Given the description of an element on the screen output the (x, y) to click on. 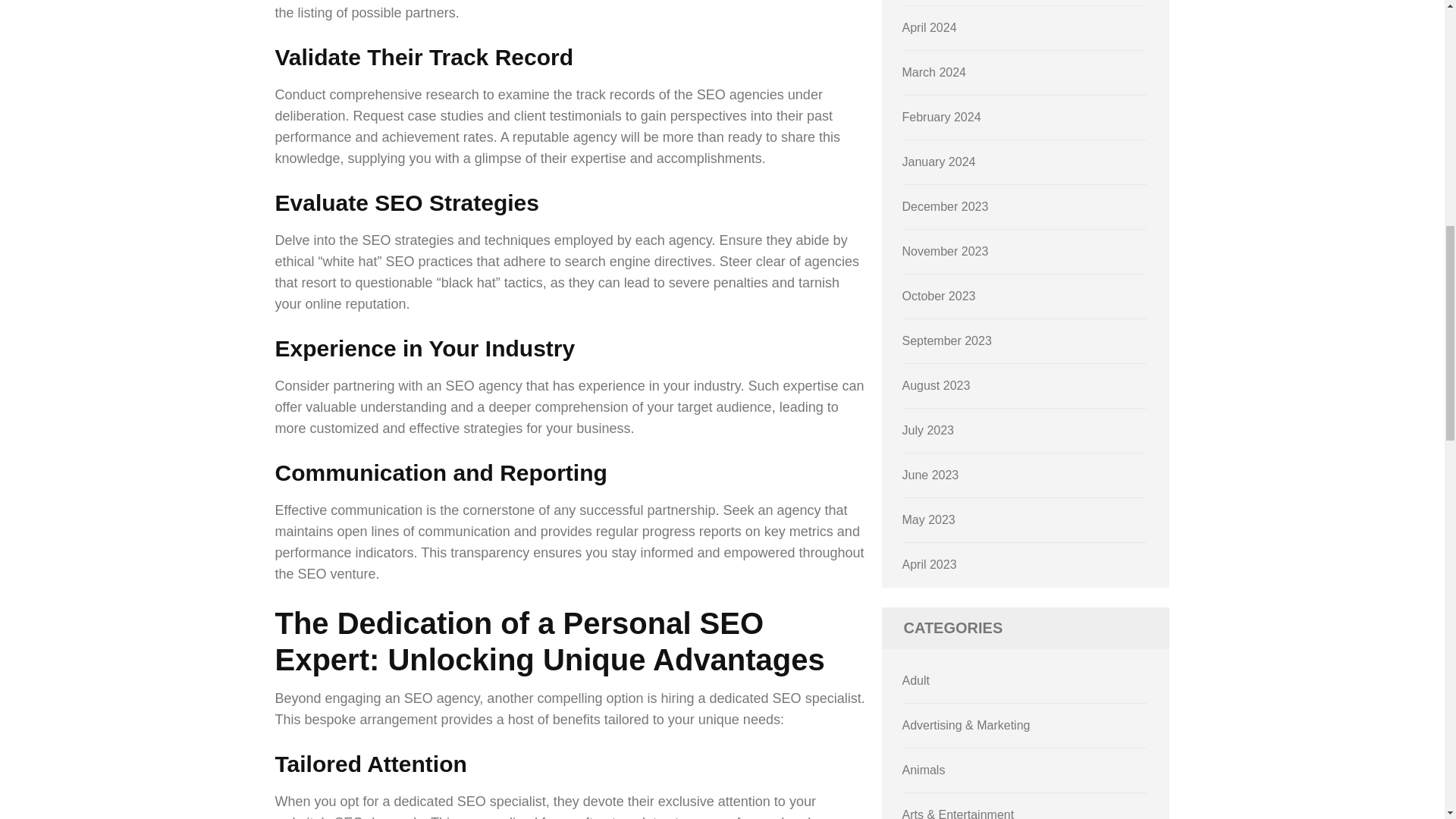
Animals (923, 769)
March 2024 (934, 72)
September 2023 (946, 340)
June 2023 (930, 474)
Adult (916, 680)
October 2023 (938, 295)
May 2023 (928, 519)
December 2023 (945, 205)
August 2023 (936, 385)
February 2024 (941, 116)
July 2023 (928, 430)
April 2024 (929, 27)
April 2023 (929, 563)
November 2023 (945, 250)
January 2024 (938, 161)
